Given the description of an element on the screen output the (x, y) to click on. 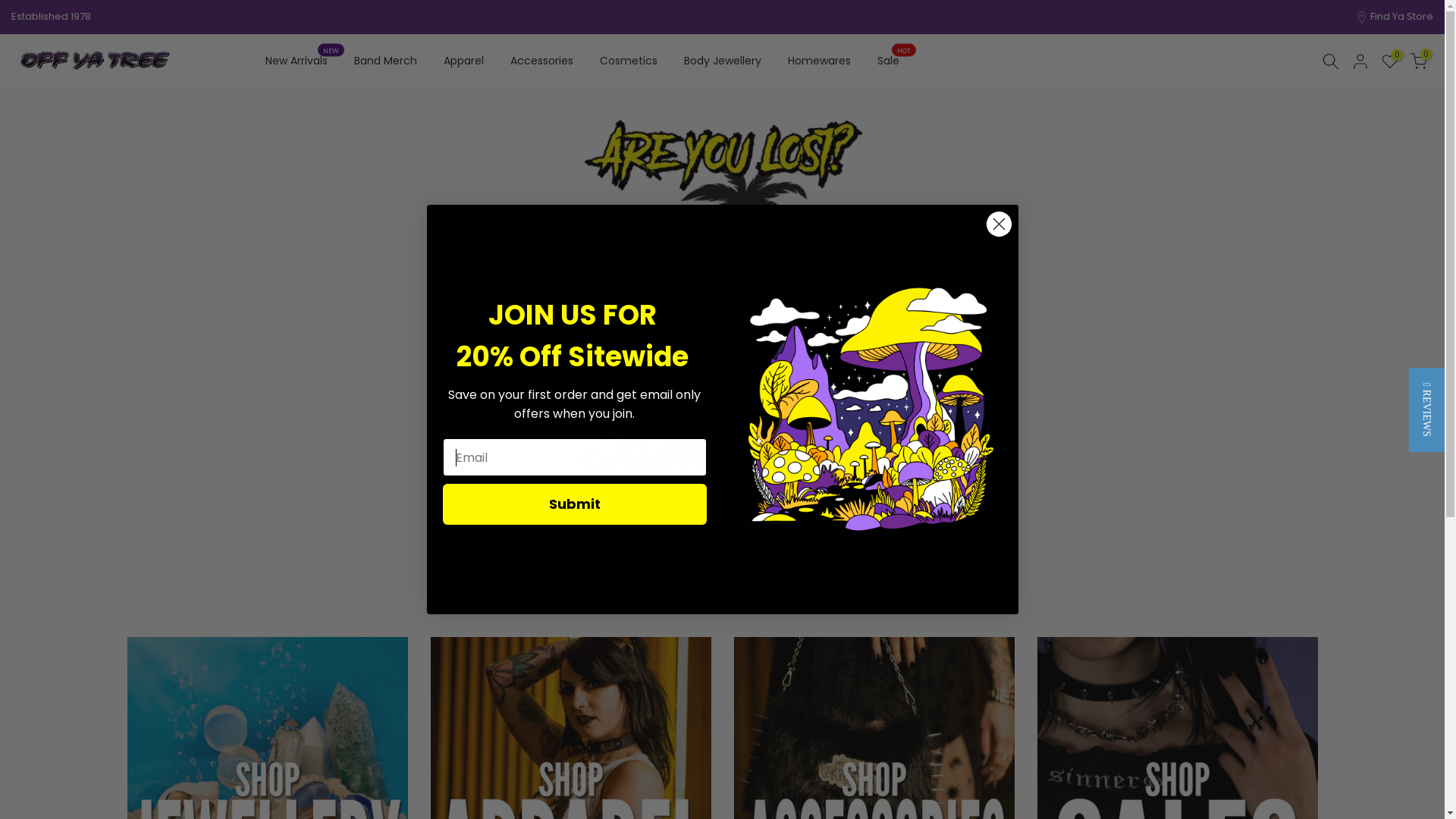
Find Ya Store Element type: text (1401, 16)
Accessories Element type: text (541, 60)
Apparel Element type: text (462, 60)
Submit Element type: text (574, 503)
Band Merch Element type: text (384, 60)
Established 1978 Element type: text (51, 16)
Return to Home Page Element type: text (722, 588)
New Arrivals
NEW Element type: text (295, 60)
Body Jewellery Element type: text (722, 60)
Cosmetics Element type: text (628, 60)
Submit Element type: text (30, 15)
0 Element type: text (1389, 61)
Homewares Element type: text (818, 60)
Sale
HOT Element type: text (887, 60)
0 Element type: text (1418, 61)
